Given the description of an element on the screen output the (x, y) to click on. 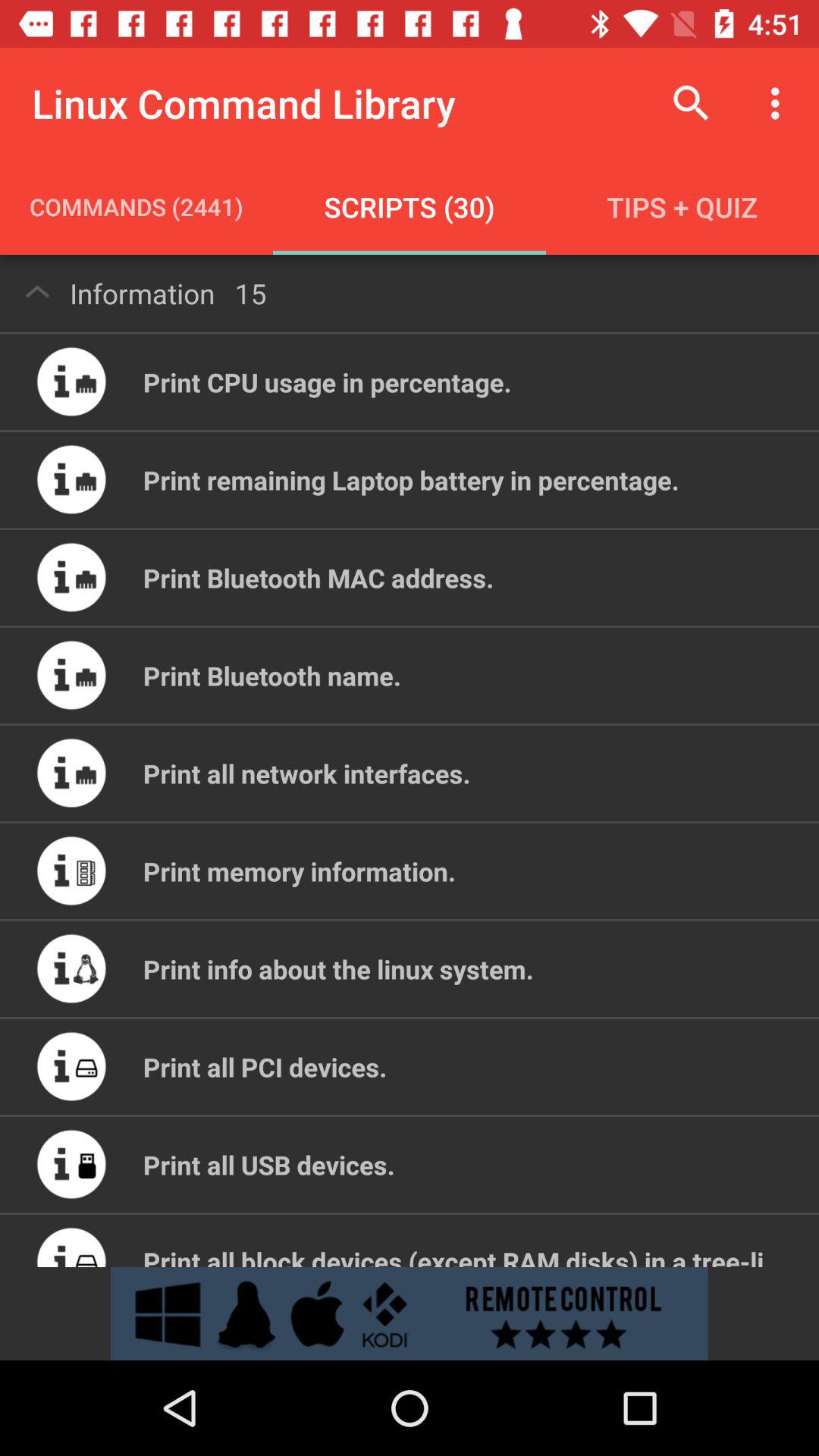
go to advertisement page (409, 1313)
